Given the description of an element on the screen output the (x, y) to click on. 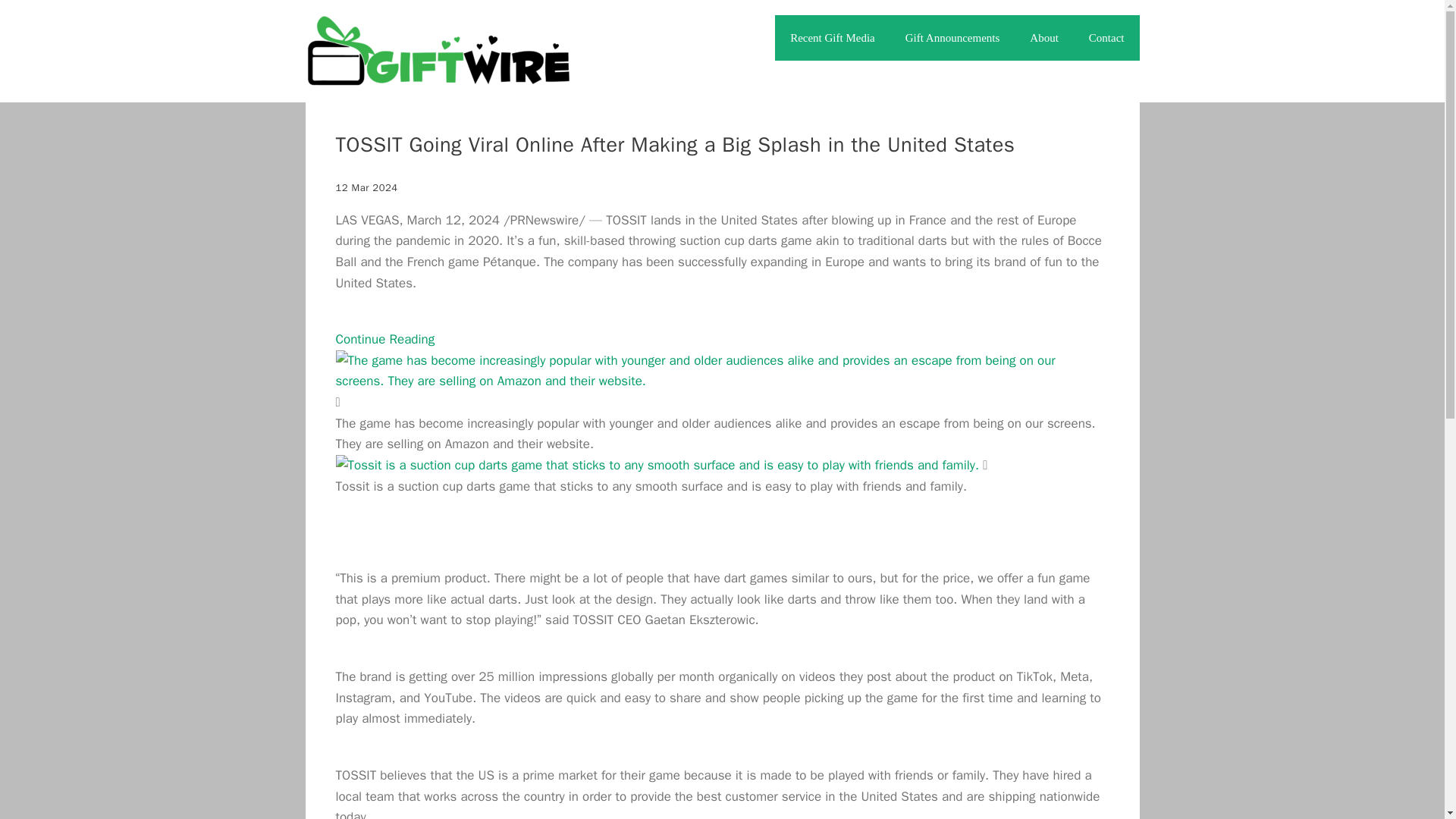
Continue Reading (383, 339)
Recent Gift Media (831, 37)
Gift Announcements (951, 37)
Continue Reading (383, 339)
Contact (1107, 37)
About (1044, 37)
